Given the description of an element on the screen output the (x, y) to click on. 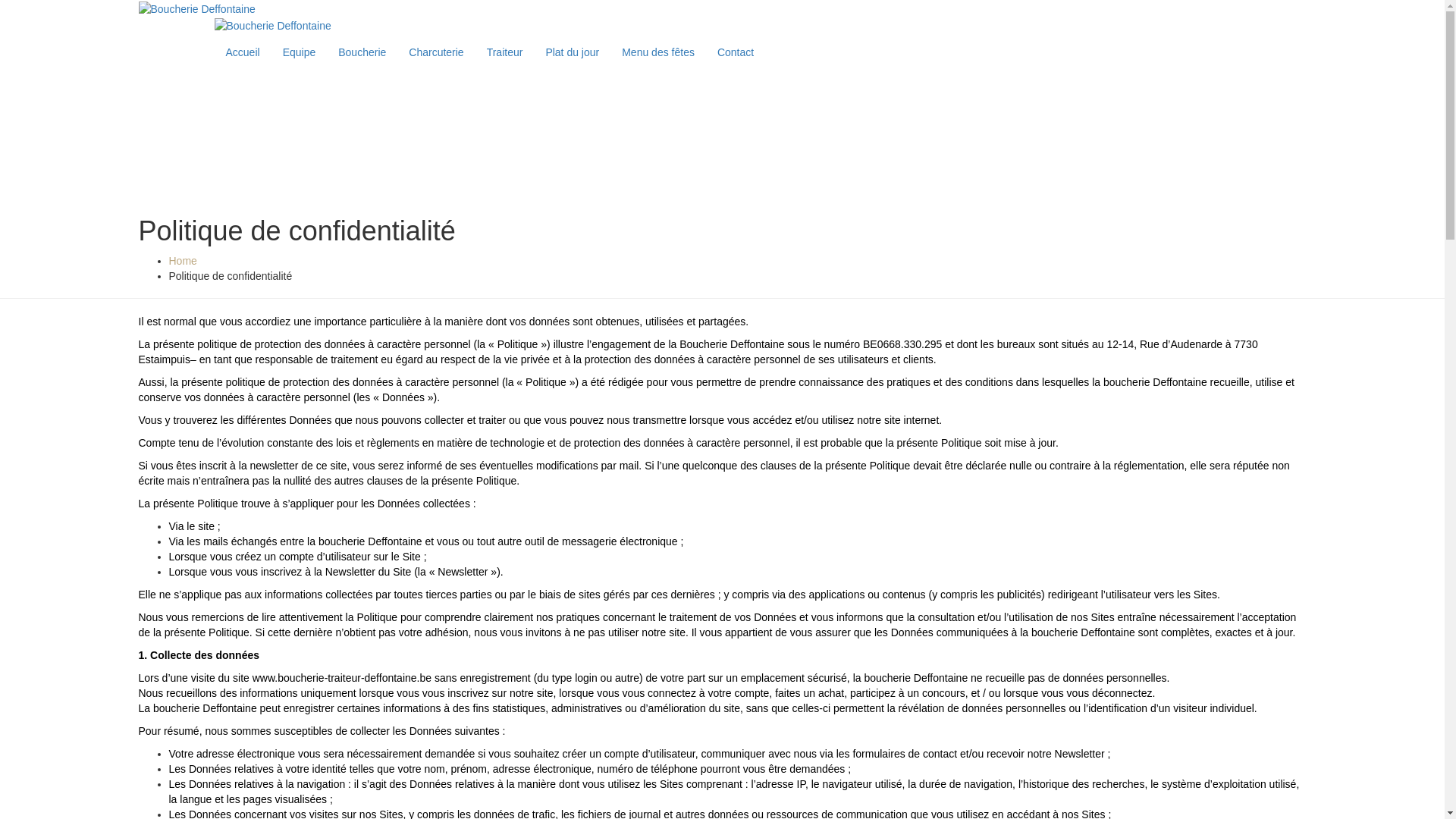
Boucherie Element type: text (361, 52)
Traiteur Element type: text (504, 52)
Charcuterie Element type: text (435, 52)
Accueil Element type: text (241, 52)
Equipe Element type: text (299, 52)
Contact Element type: text (735, 52)
Plat du jour Element type: text (571, 52)
Home Element type: text (182, 260)
www.boucherie-traiteur-deffontaine.be Element type: text (341, 677)
